Given the description of an element on the screen output the (x, y) to click on. 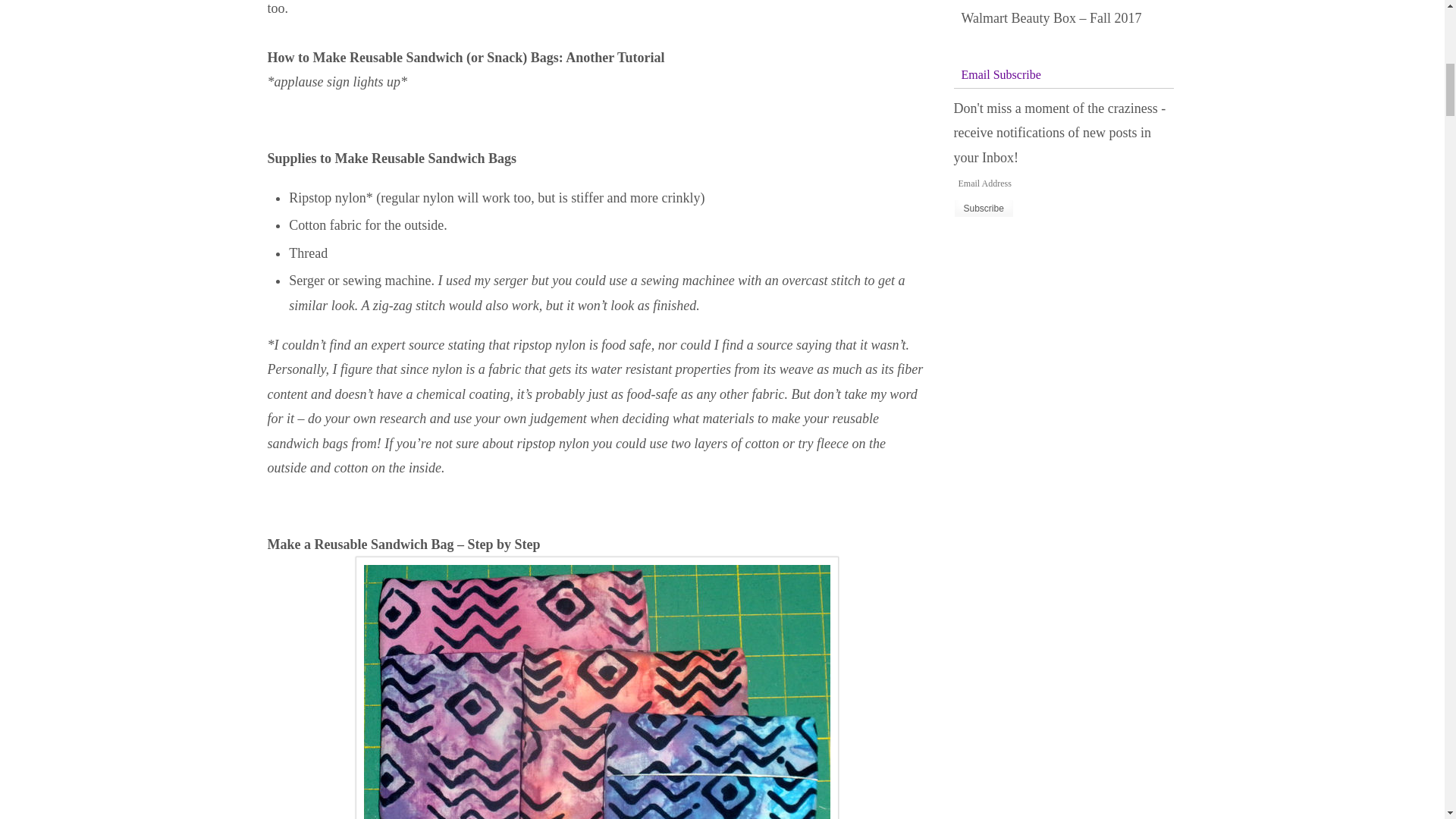
Subscribe (983, 208)
